Given the description of an element on the screen output the (x, y) to click on. 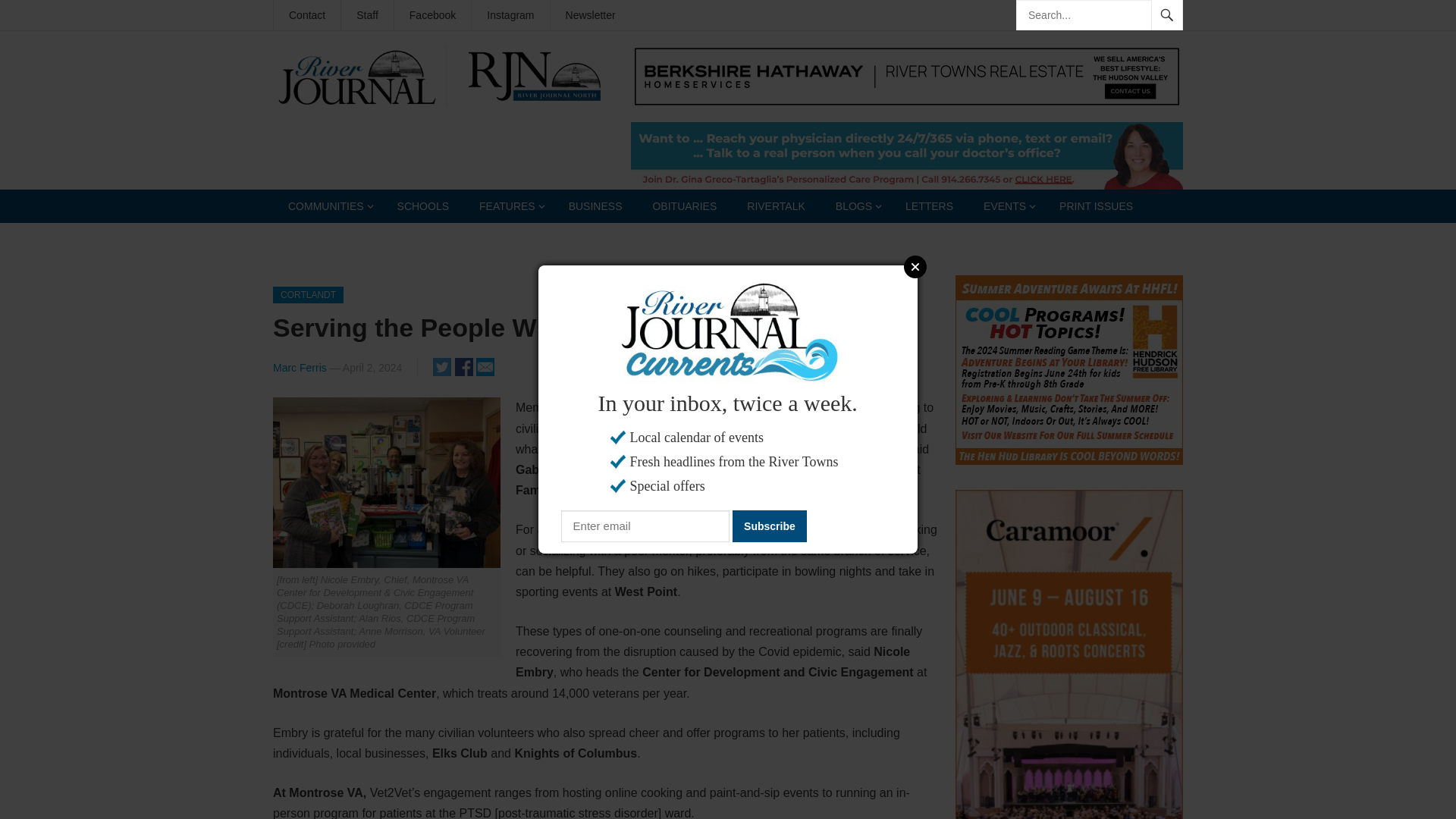
Facebook (432, 15)
Posts by Marc Ferris (299, 367)
SCHOOLS (422, 205)
Instagram (509, 15)
COMMUNITIES (327, 205)
Newsletter (590, 15)
Staff (366, 15)
Subscribe (769, 526)
FEATURES (508, 205)
Contact (306, 15)
BUSINESS (595, 205)
View all posts in Cortlandt (308, 294)
